Given the description of an element on the screen output the (x, y) to click on. 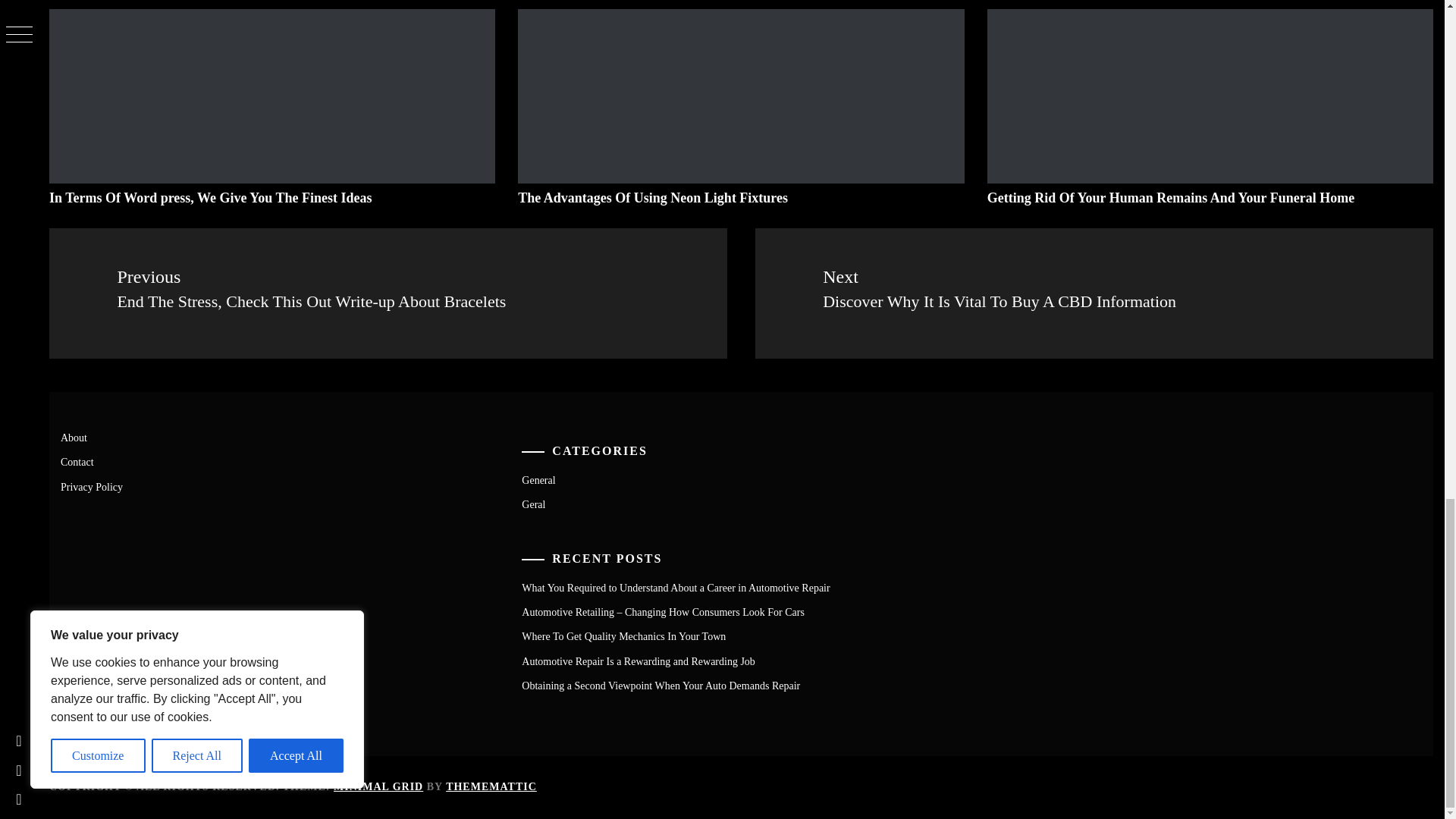
The Advantages Of Using Neon Light Fixtures (652, 197)
In Terms Of Word press, We Give You The Finest Ideas (210, 197)
